Given the description of an element on the screen output the (x, y) to click on. 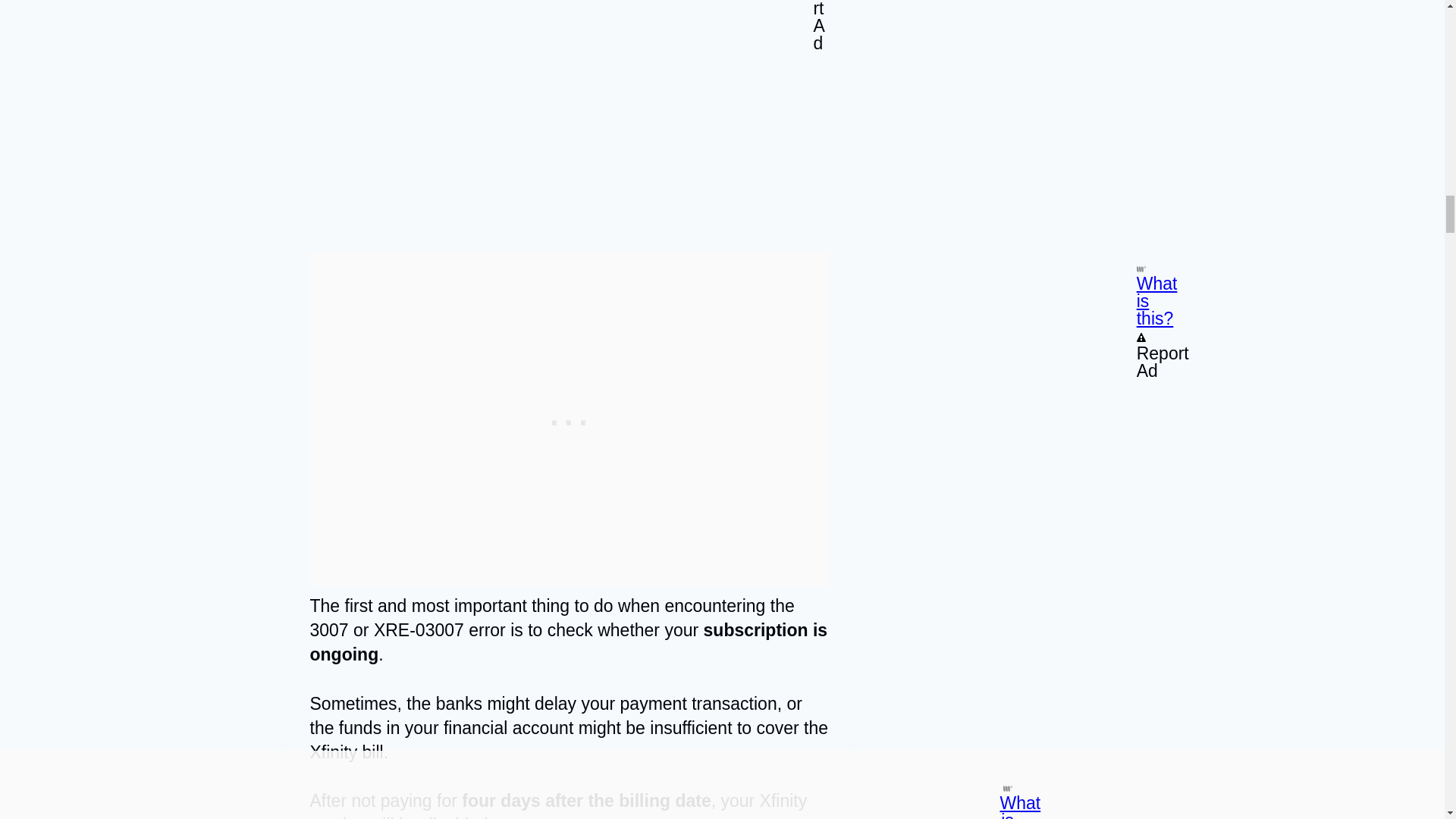
Xfinity Reference Code 3007 - Quick Fix Guide 3 (568, 114)
